Given the description of an element on the screen output the (x, y) to click on. 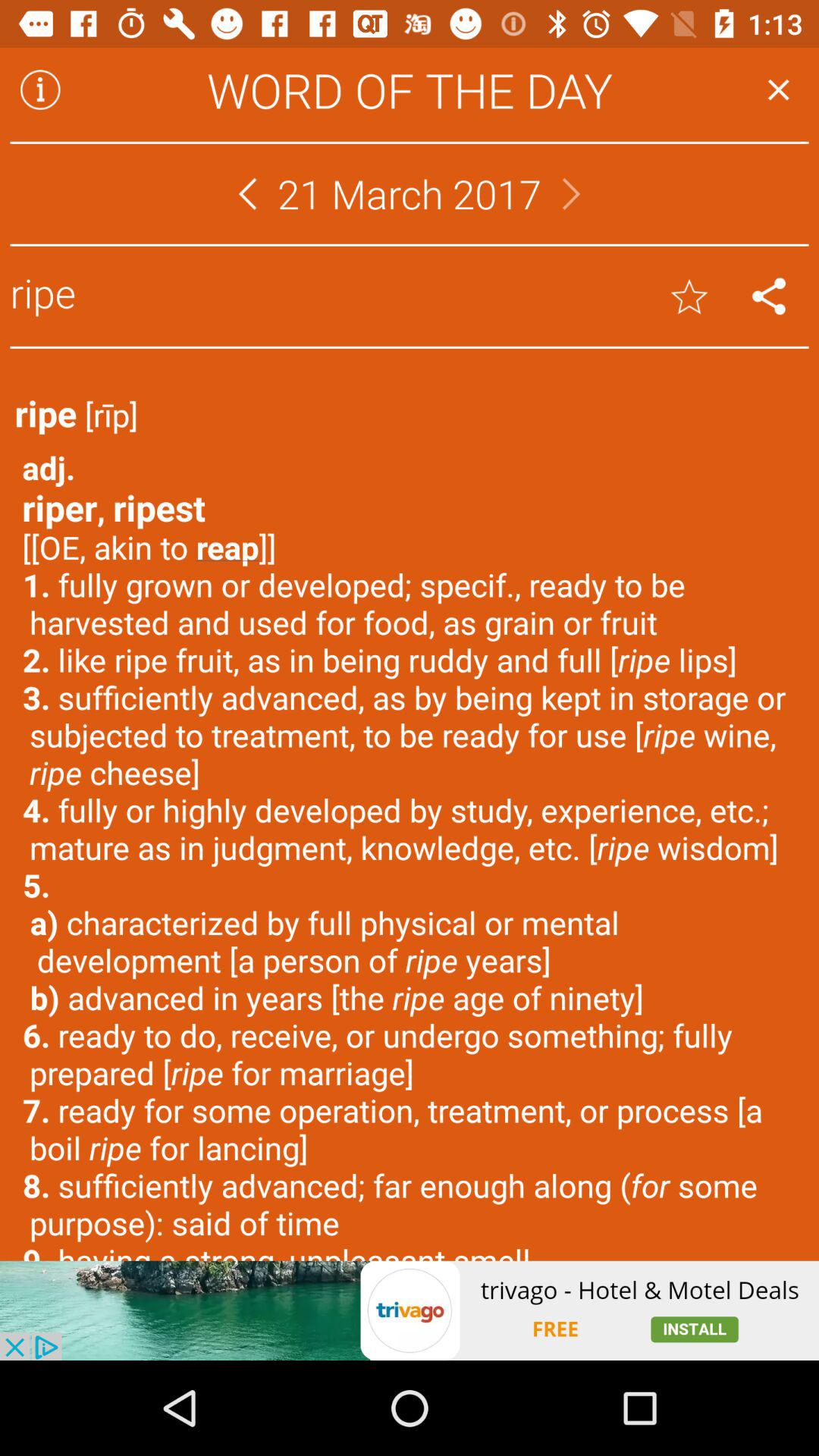
show information (40, 89)
